Given the description of an element on the screen output the (x, y) to click on. 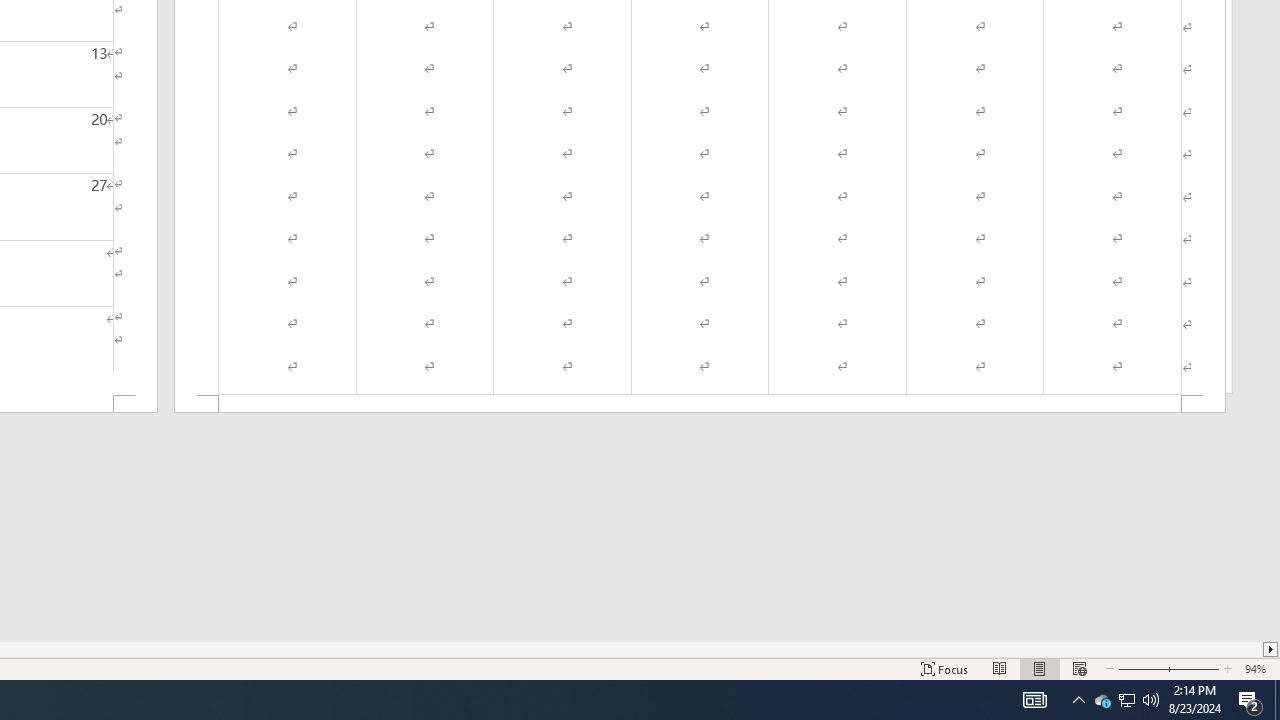
Footer -Section 1- (700, 404)
Focus  (944, 668)
Web Layout (1079, 668)
Column right (1271, 649)
Zoom In (1193, 668)
Print Layout (1039, 668)
Zoom Out (1140, 668)
Read Mode (1000, 668)
